Given the description of an element on the screen output the (x, y) to click on. 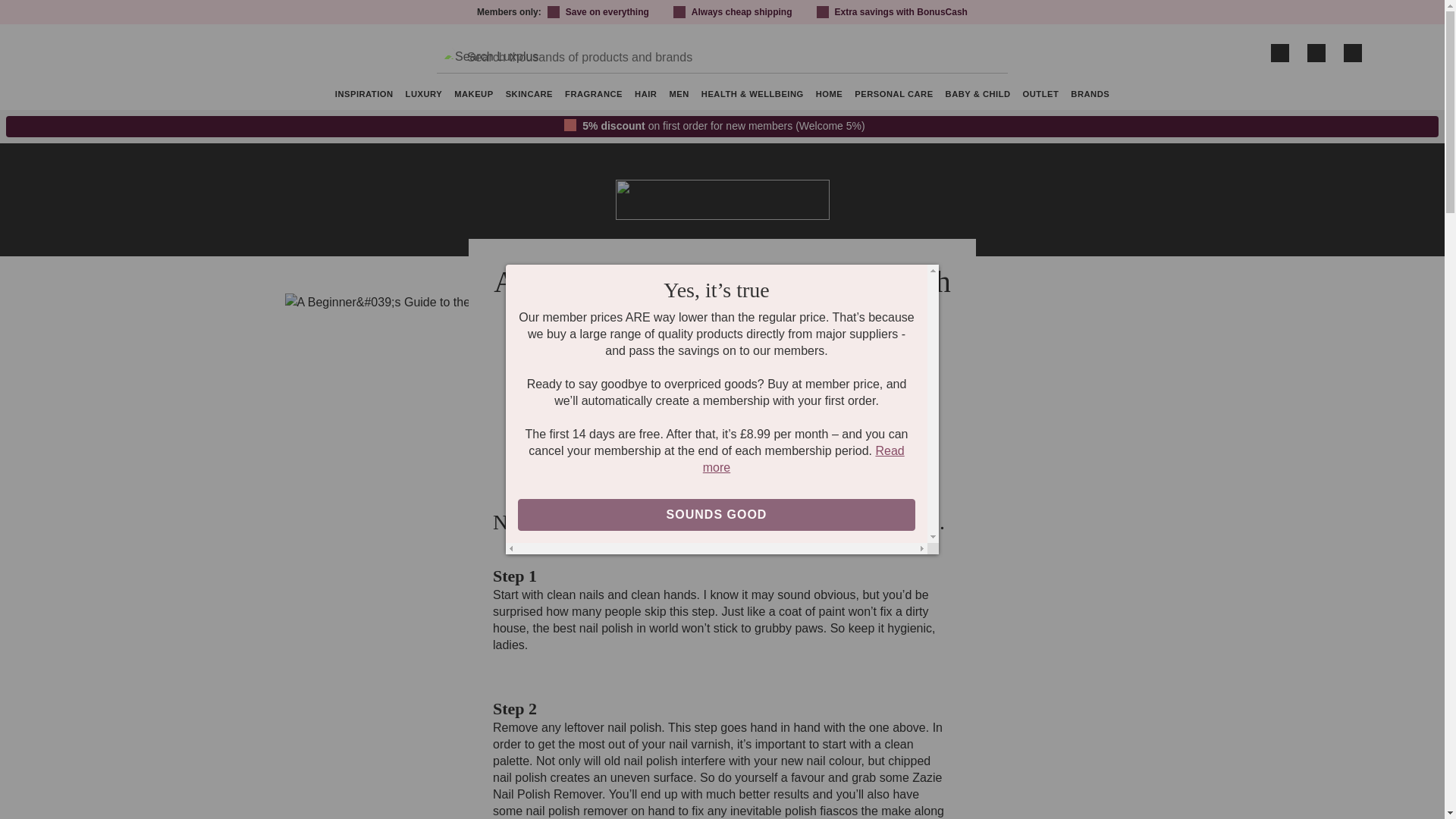
INSPIRATION (363, 95)
MAKEUP (473, 95)
FRAGRANCE (593, 95)
HOME (828, 95)
BRANDS (1089, 95)
MEN (678, 95)
SKINCARE (529, 95)
PERSONAL CARE (893, 95)
HAIR (645, 95)
LUXURY (423, 95)
